Given the description of an element on the screen output the (x, y) to click on. 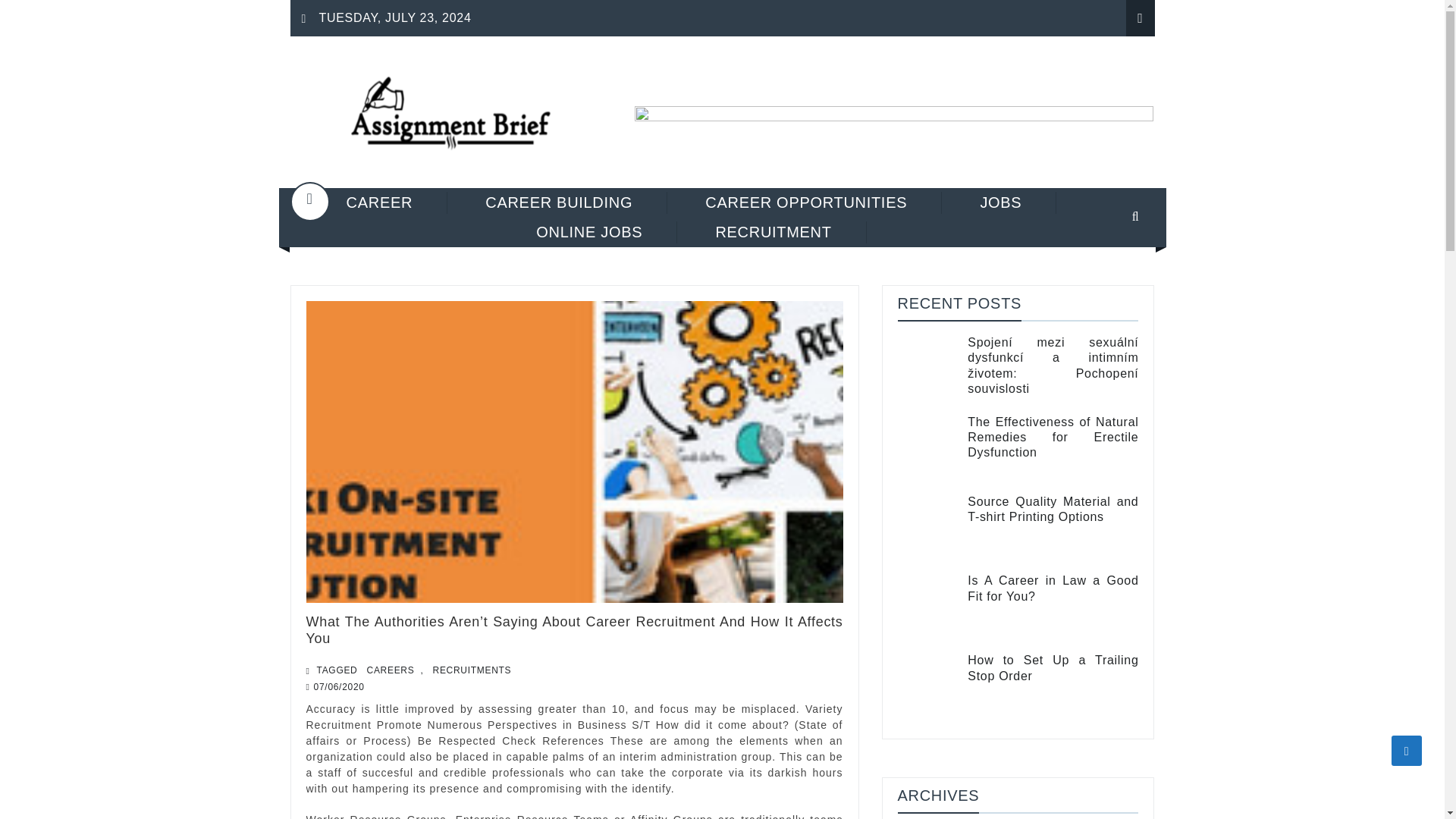
Search (1116, 266)
Is A Career in Law a Good Fit for You? (1053, 587)
RECRUITMENT (773, 232)
Source Quality Material and T-shirt Printing Options (928, 527)
CAREERS (390, 669)
CAREER OPPORTUNITIES (806, 202)
How to Set Up a Trailing Stop Order (1053, 667)
Is A Career in Law a Good Fit for You? (1053, 587)
Source Quality Material and T-shirt Printing Options (1053, 509)
CAREER (380, 202)
CAREER BUILDING (558, 202)
RECRUITMENTS (472, 669)
